Given the description of an element on the screen output the (x, y) to click on. 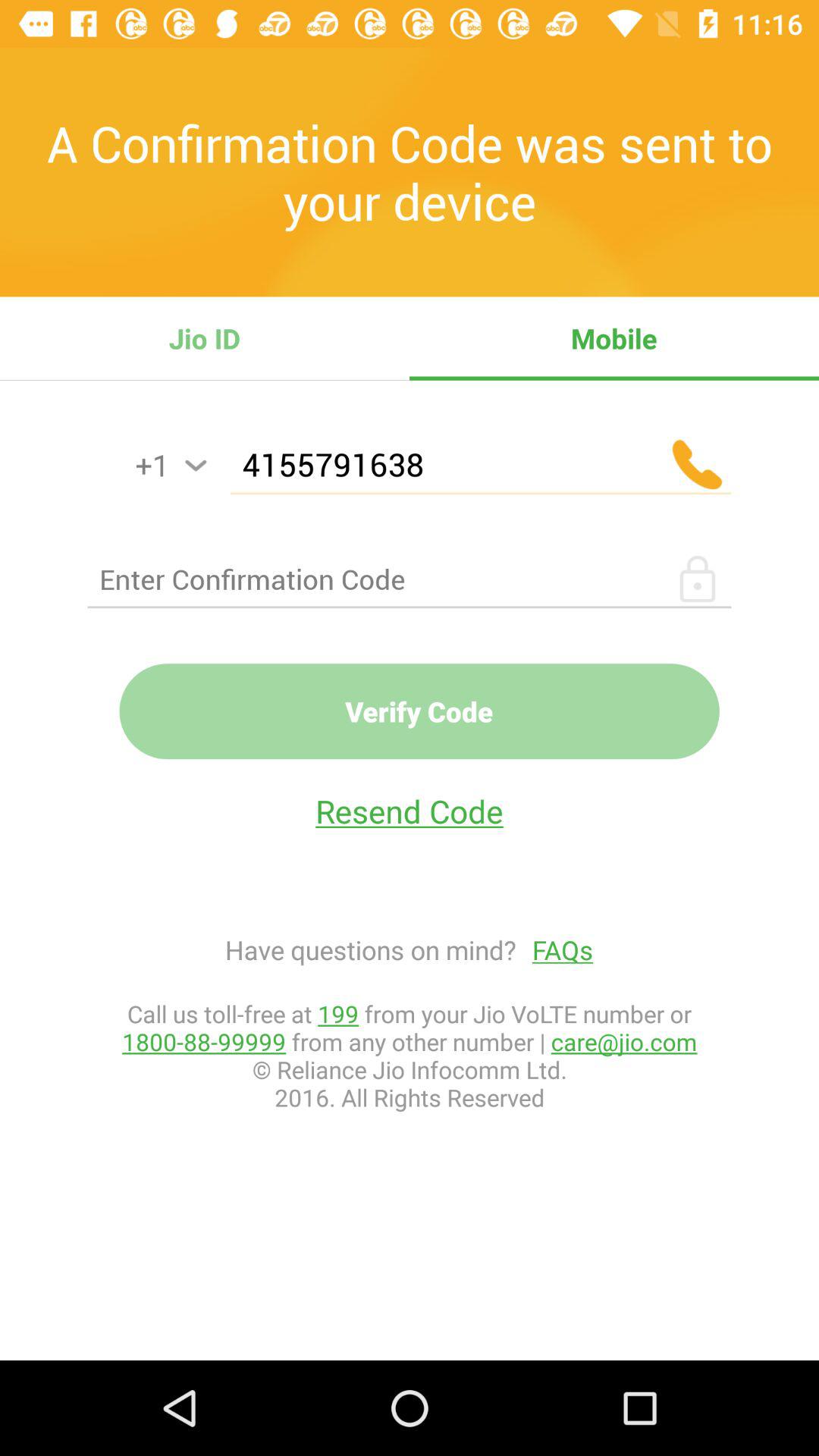
enter confirmation code (409, 578)
